Given the description of an element on the screen output the (x, y) to click on. 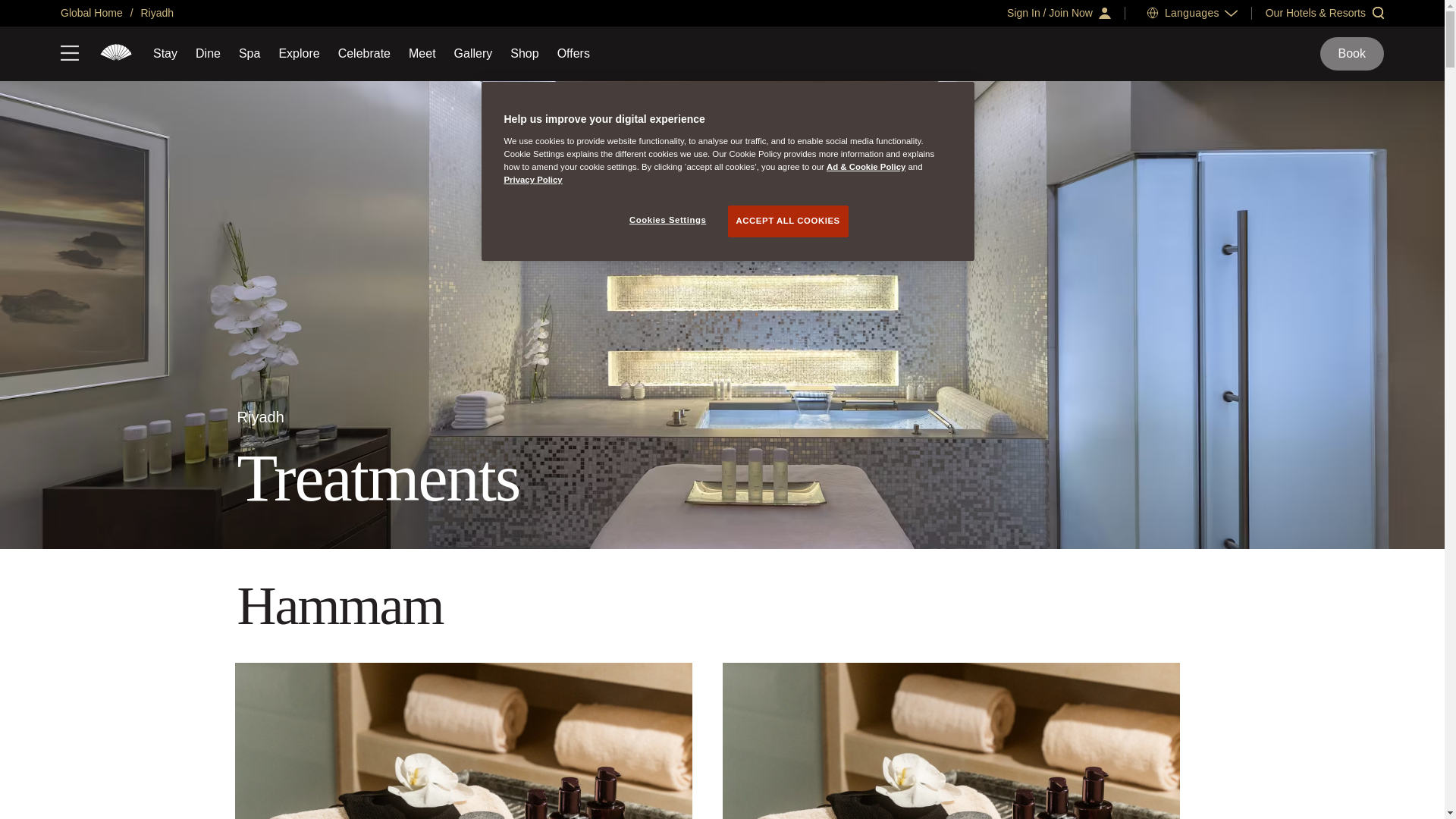
Celebrate (363, 52)
Global Home (91, 12)
Dine (208, 52)
Offers (573, 52)
Gallery (473, 52)
Shop (524, 52)
Riyadh (116, 53)
Book (1352, 53)
Languages (1192, 12)
Riyadh (155, 12)
Spa (249, 52)
Explore (298, 52)
Stay (164, 52)
Meet (422, 52)
